Given the description of an element on the screen output the (x, y) to click on. 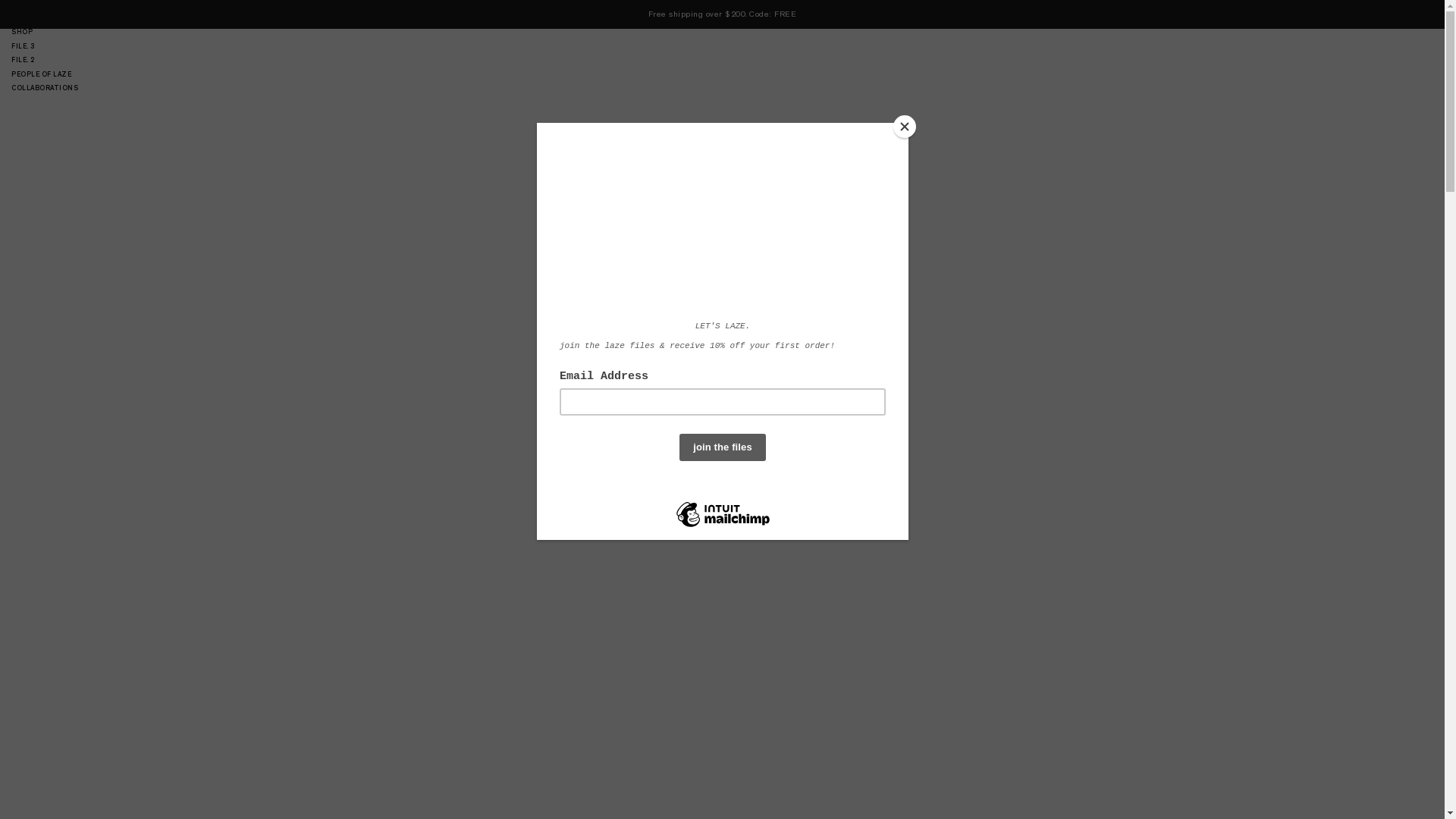
FILE. 2 Element type: text (44, 59)
HOME Element type: text (44, 18)
PEOPLE OF LAZE Element type: text (44, 74)
CART Element type: text (1415, 18)
FILE. 3 Element type: text (44, 46)
COLLABORATIONS Element type: text (44, 87)
SHOP Element type: text (44, 31)
LAZE RES Element type: text (721, 61)
